Given the description of an element on the screen output the (x, y) to click on. 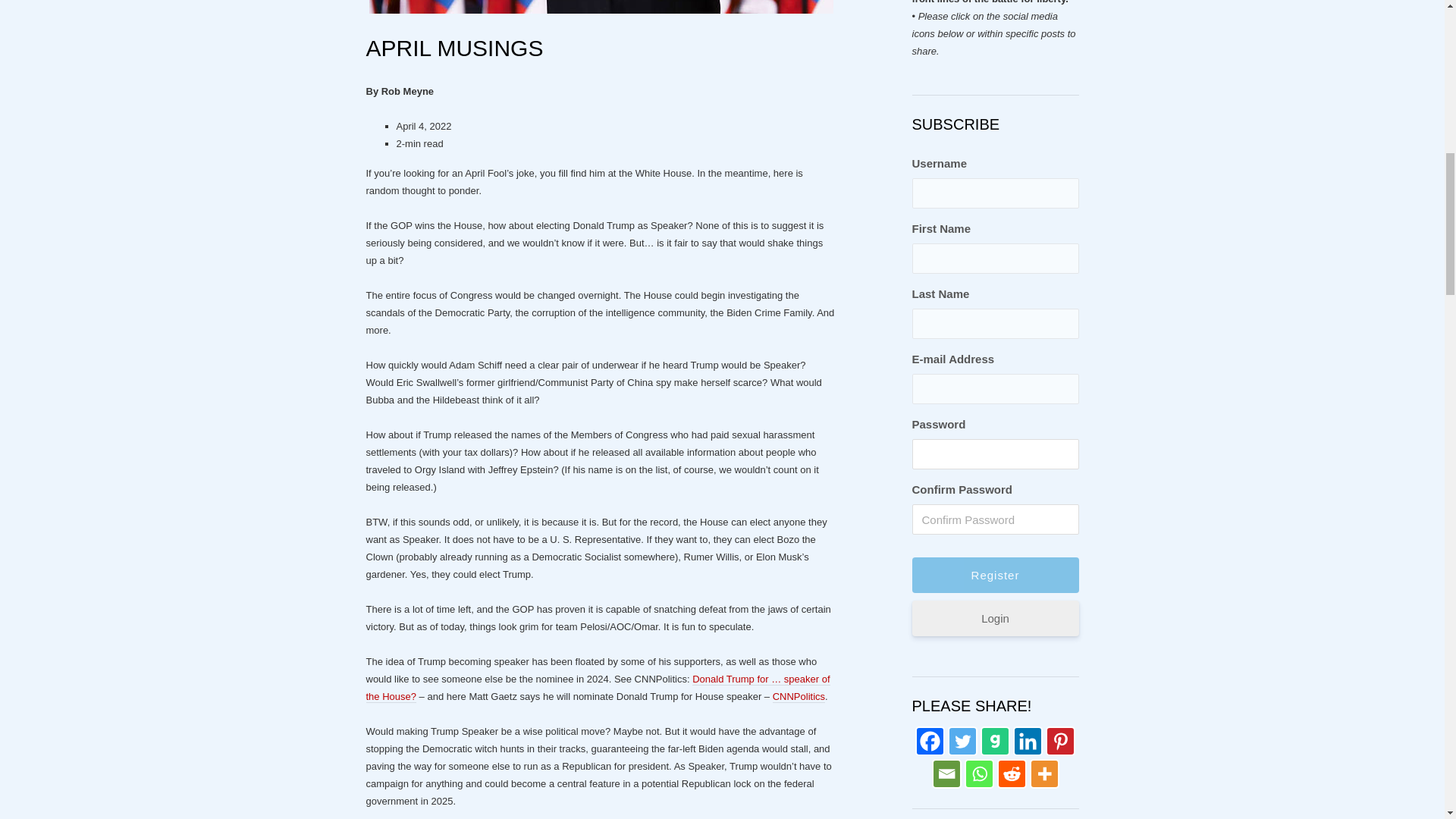
CNNPolitics (799, 696)
Facebook (929, 740)
Linkedin (1027, 740)
APRIL MUSINGS (454, 48)
Gab (994, 740)
Register (994, 574)
Twitter (961, 740)
